Given the description of an element on the screen output the (x, y) to click on. 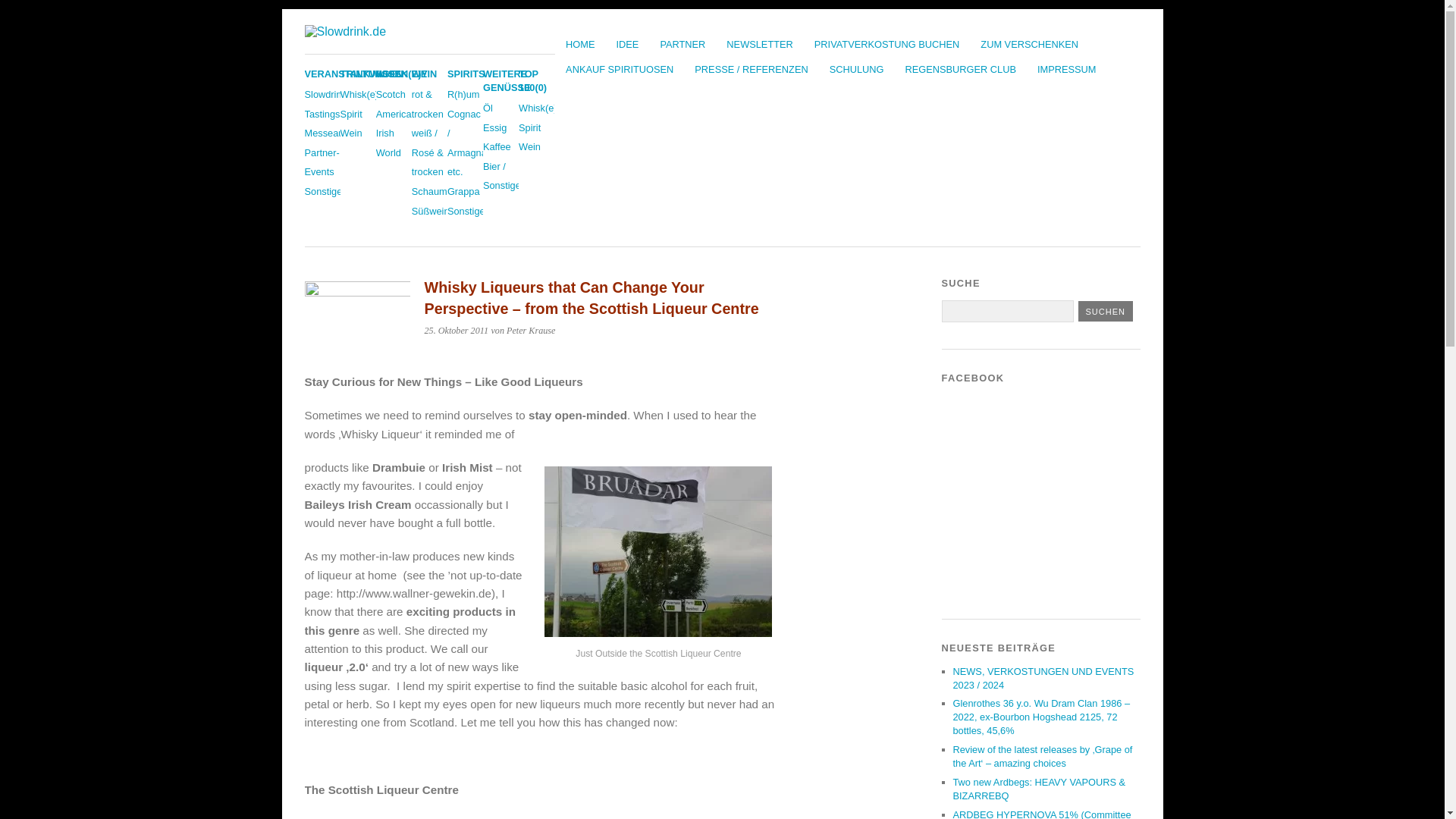
Suchen (1105, 311)
TRINKWISSEN (374, 73)
IMPRESSUM (1066, 68)
REGENSBURGER CLUB (959, 68)
WEIN (424, 73)
Scotch (390, 93)
Partner-Events (321, 162)
Scottish Liqueur Centre (657, 551)
SPIRITS (465, 73)
Messeauftritte (334, 132)
